Given the description of an element on the screen output the (x, y) to click on. 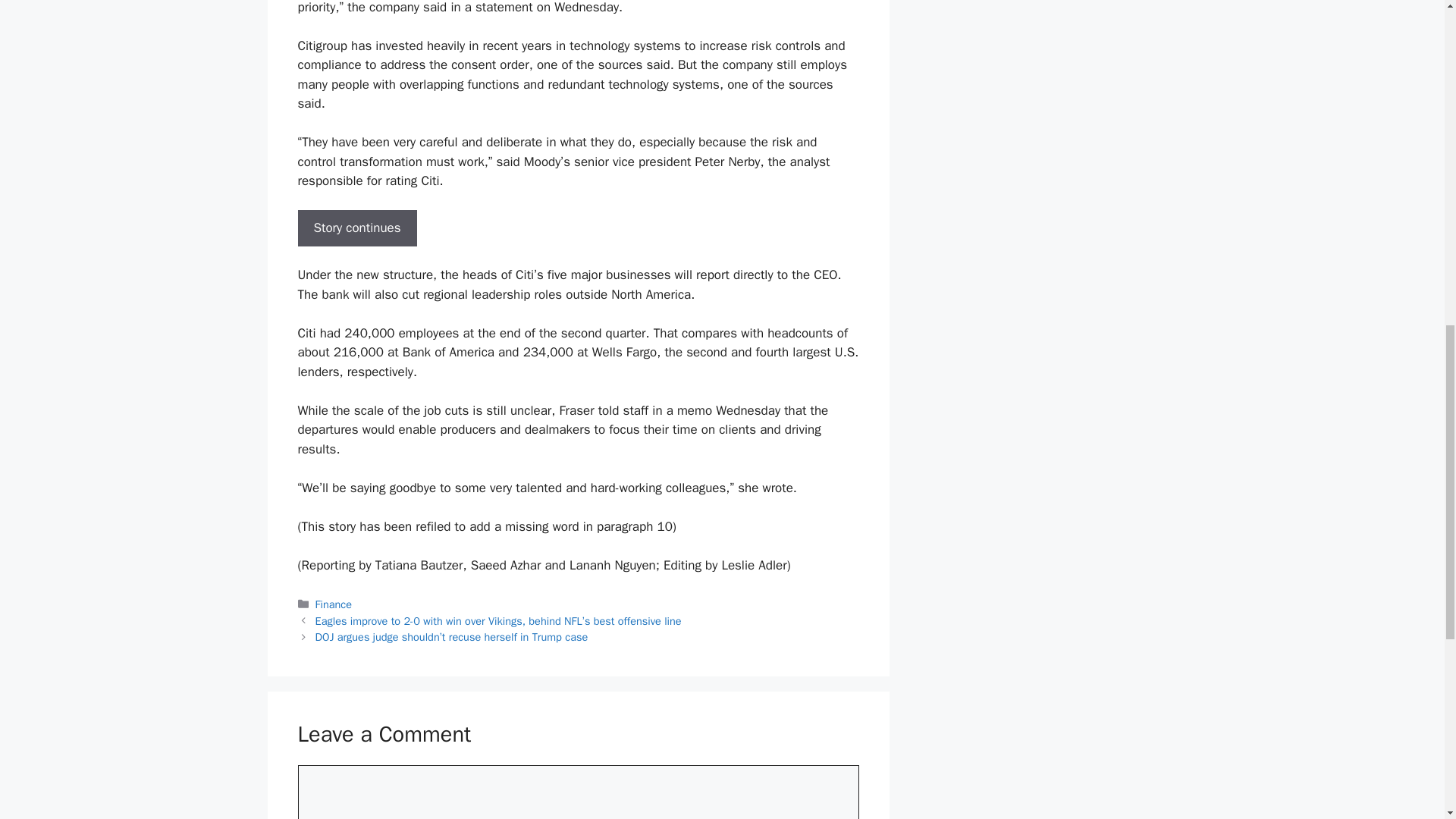
Finance (333, 603)
Scroll back to top (1406, 720)
Story continues (356, 227)
